Given the description of an element on the screen output the (x, y) to click on. 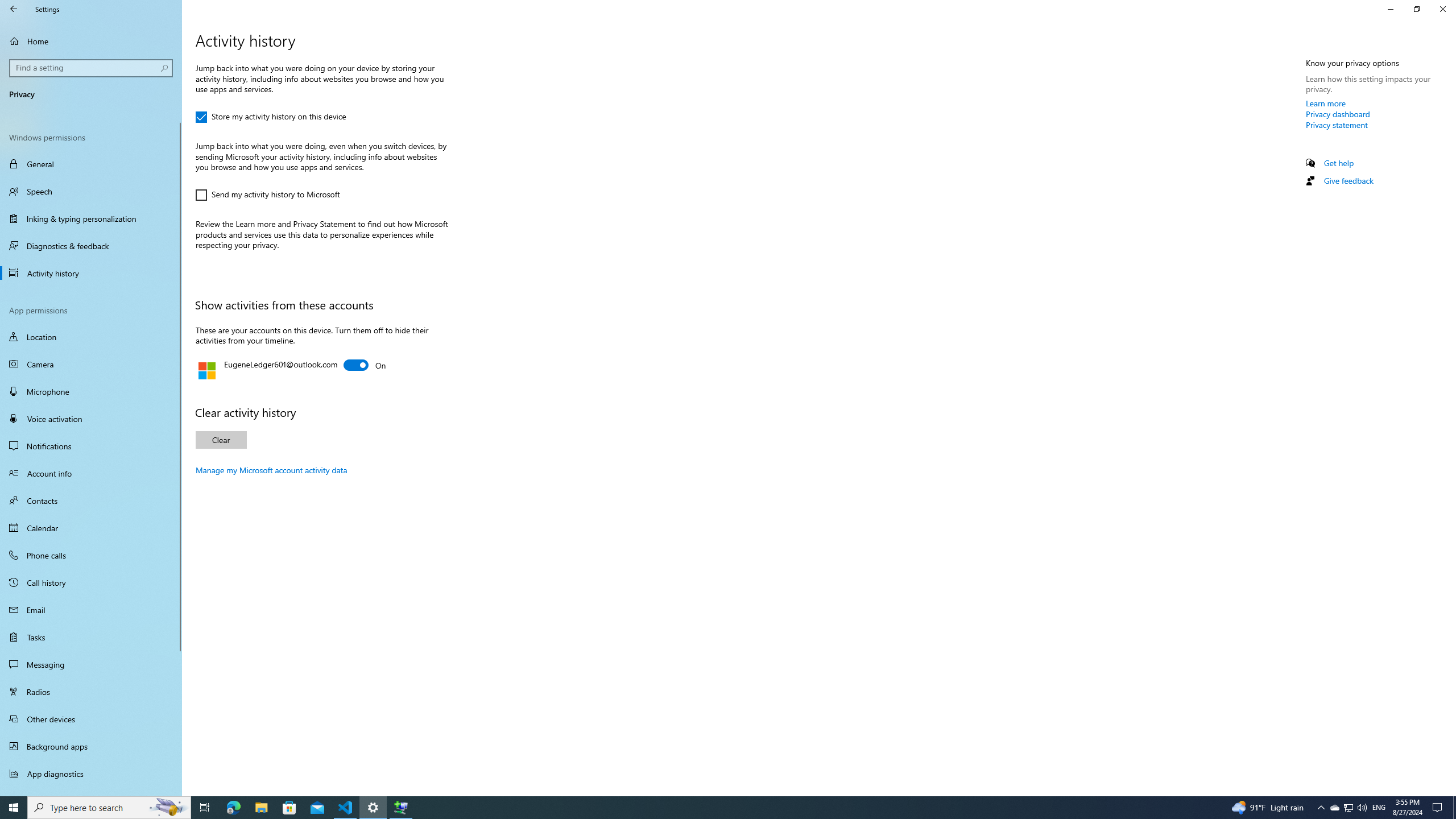
Clear (221, 439)
EugeneLedger601@outlook.com (365, 365)
Radios (91, 691)
Store my activity history on this device (270, 117)
Diagnostics & feedback (91, 245)
Messaging (91, 664)
Extensible Wizards Host Process - 1 running window (400, 807)
Other devices (91, 718)
